Given the description of an element on the screen output the (x, y) to click on. 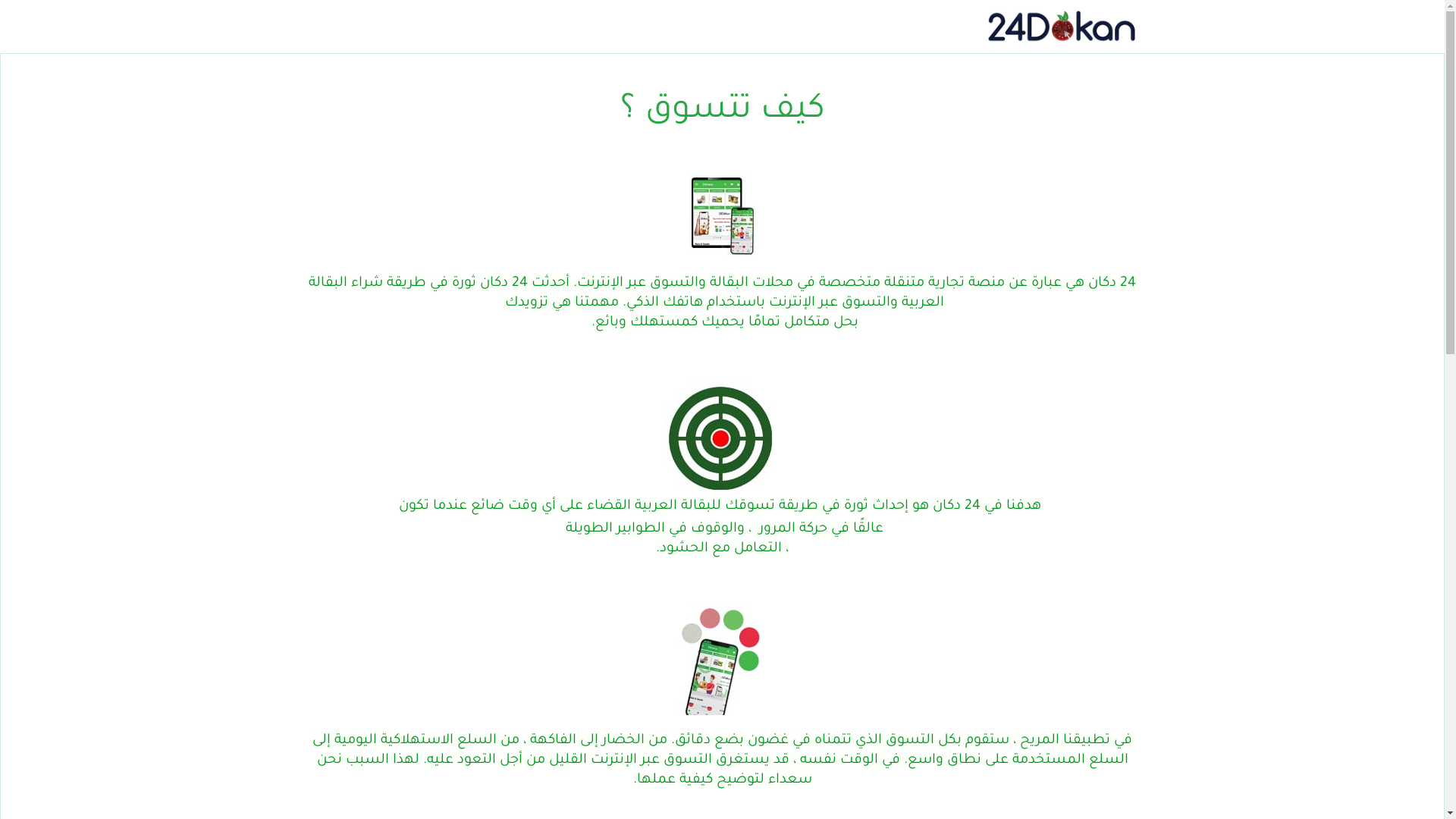
24Dokan Element type: hover (1059, 26)
